Given the description of an element on the screen output the (x, y) to click on. 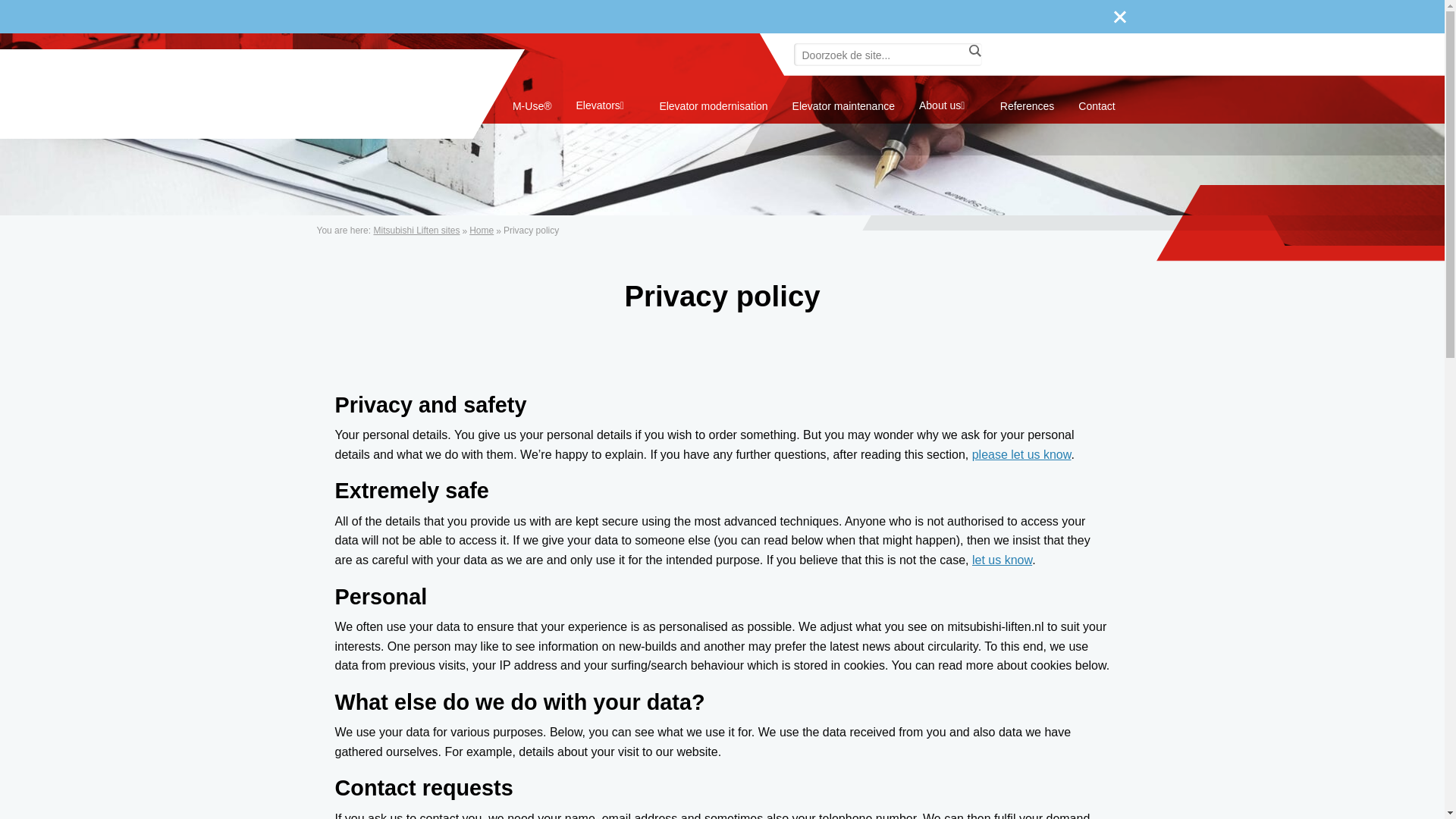
de (1039, 54)
en (1016, 54)
Elevator modernisation (713, 105)
References (1027, 105)
Go to English. (480, 230)
Elevator maintenance (843, 105)
About us (946, 105)
Elevators (605, 105)
Go to Mitsubishi Liften sites. (416, 230)
Mitsubishi elevaters logo (389, 93)
